Given the description of an element on the screen output the (x, y) to click on. 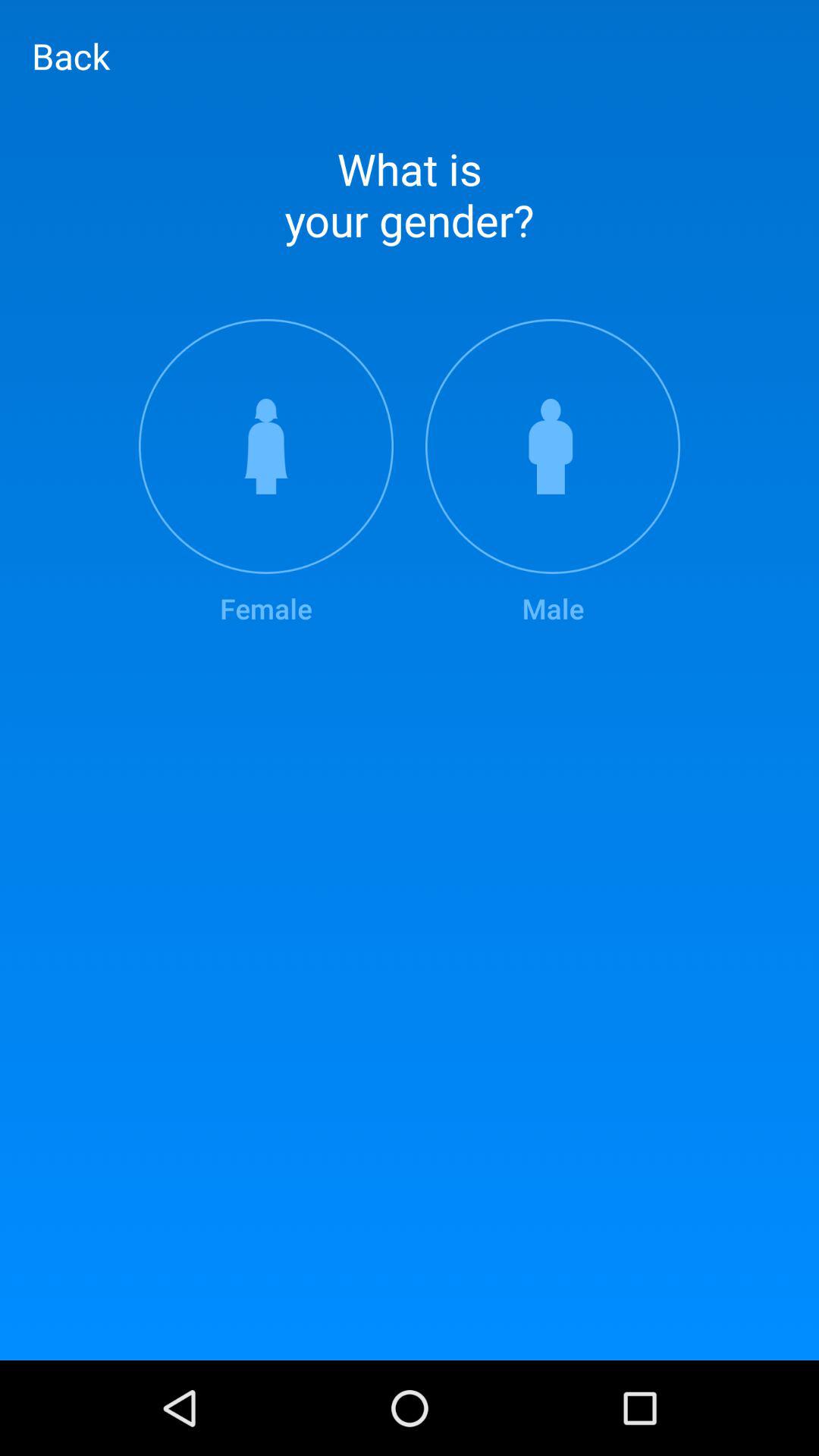
turn off the male icon (552, 473)
